Given the description of an element on the screen output the (x, y) to click on. 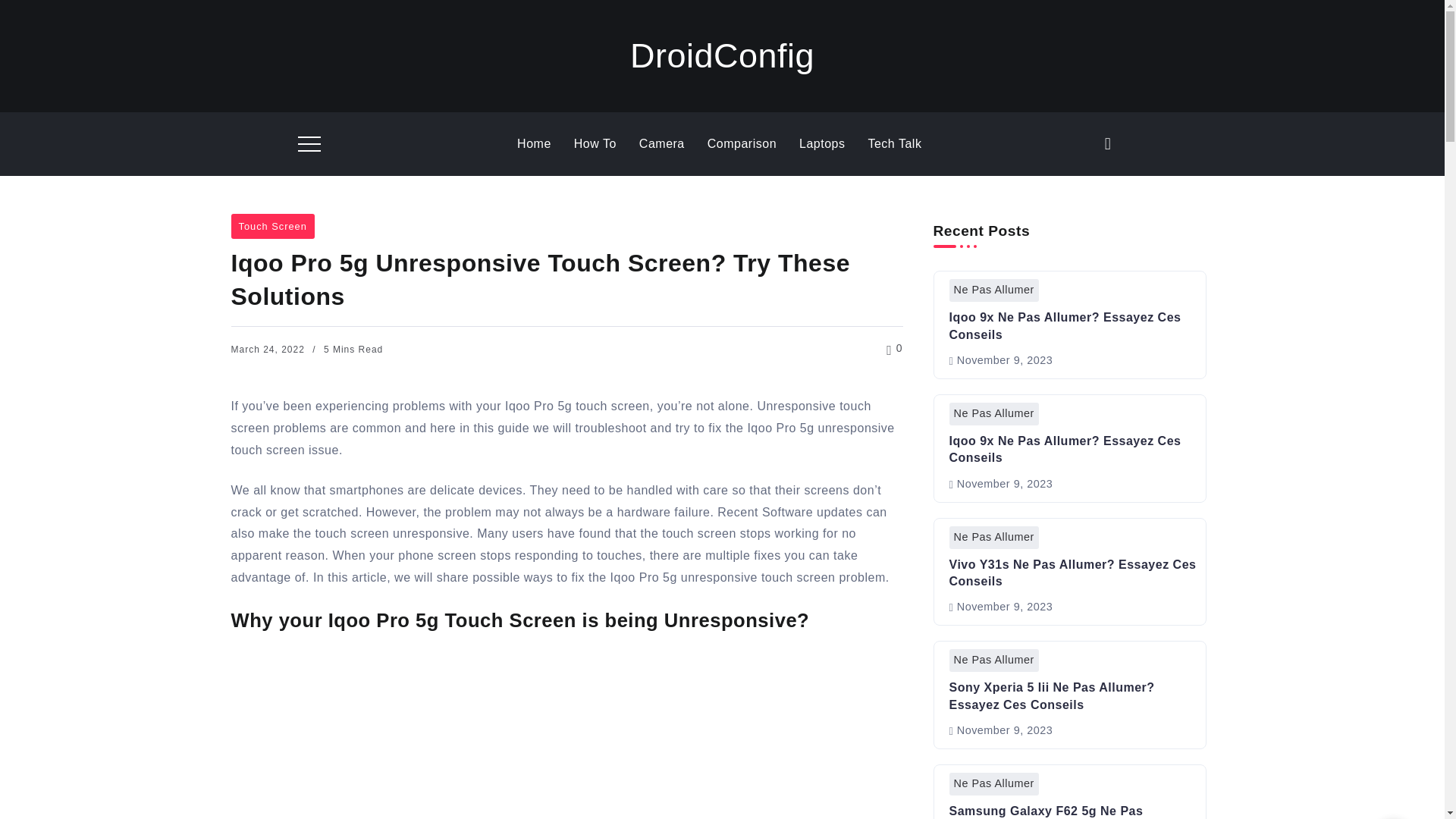
Laptops (821, 143)
DroidConfig (722, 55)
Tech Talk (894, 143)
Touch Screen (272, 226)
Comparison (742, 143)
comments (894, 348)
How To (595, 143)
0 (894, 347)
DroidConfig (722, 55)
Touch Screen (272, 226)
Home (534, 143)
Ne Pas Allumer (994, 290)
Iqoo Pro 5g Unresponsive Touch Screen (566, 739)
Camera (661, 143)
